Given the description of an element on the screen output the (x, y) to click on. 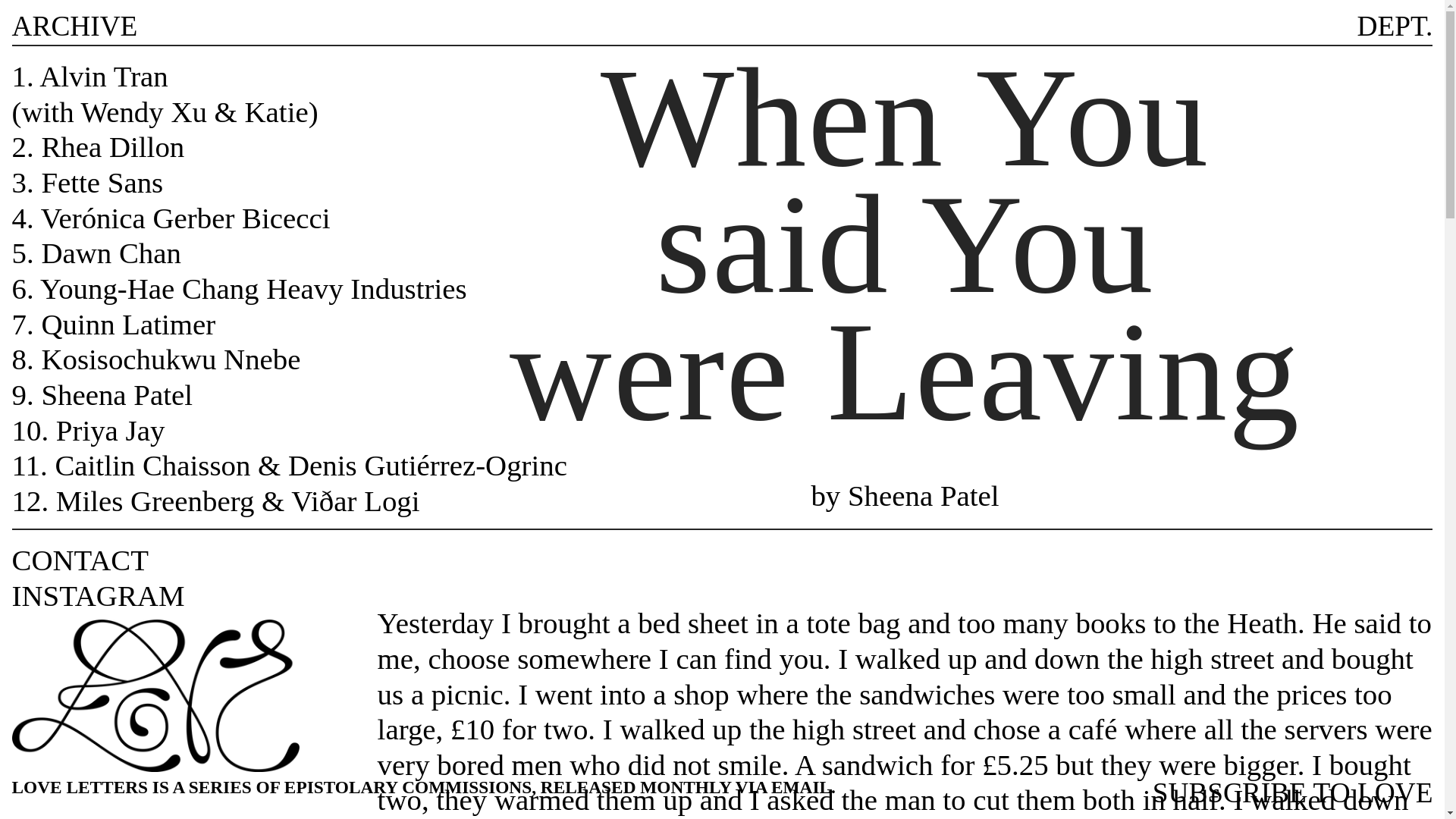
5. Dawn Chan (95, 252)
CONTACT (79, 559)
7. Quinn Latimer (113, 323)
10. Priya Jay (88, 430)
9. Sheena Patel (102, 394)
3. Fette Sans (87, 182)
DEPT. (1394, 25)
2. Rhea Dillon (97, 146)
INSTAGRAM (97, 595)
8. Kosisochukwu Nnebe (156, 359)
